Given the description of an element on the screen output the (x, y) to click on. 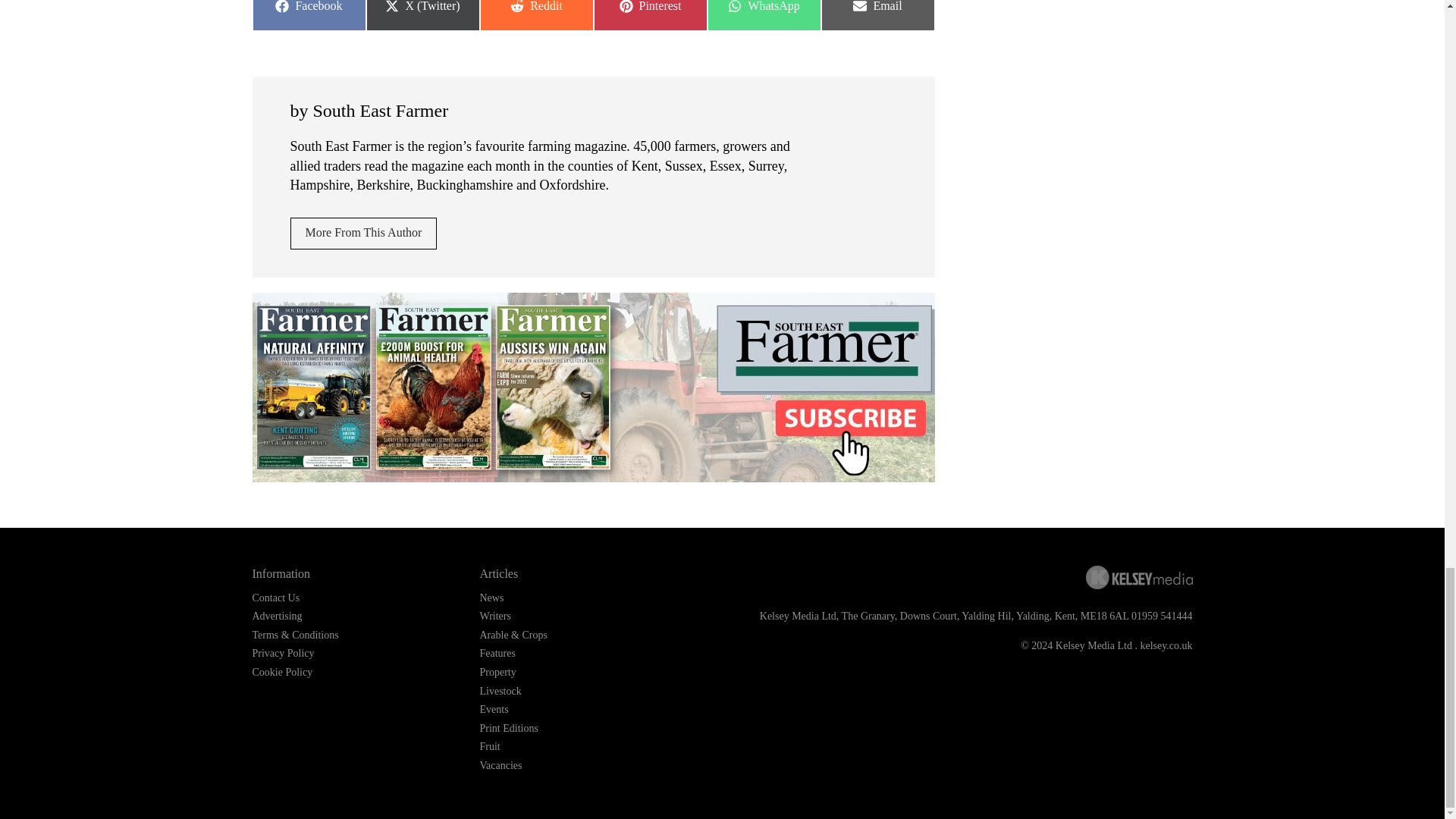
Contact Us (763, 15)
More From This Author (275, 597)
